Given the description of an element on the screen output the (x, y) to click on. 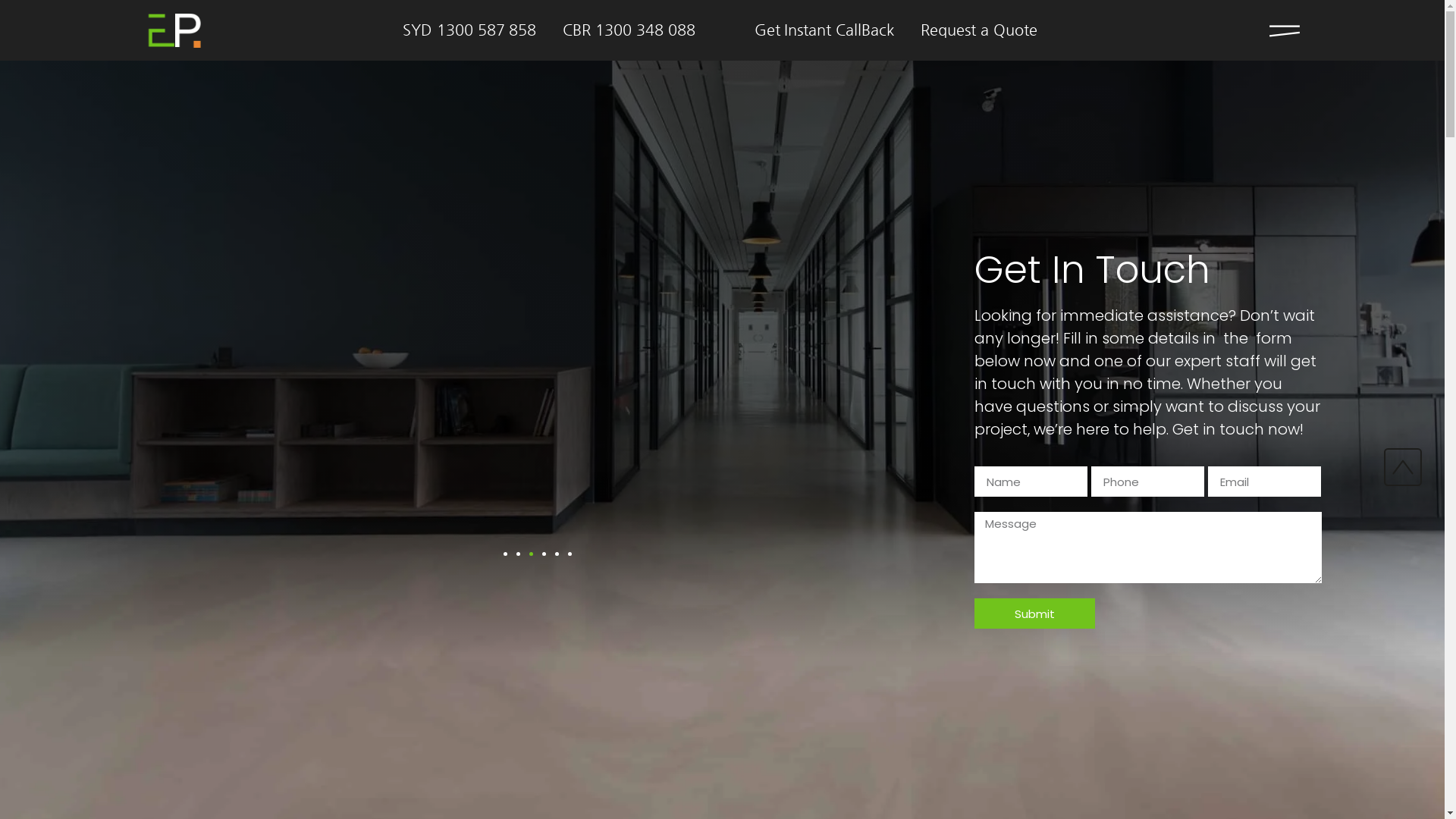
Get Instant CallBack Element type: text (824, 29)
SYD 1300 587 858 Element type: text (469, 29)
Submit Element type: text (1034, 613)
Request a Quote Element type: text (978, 29)
CBR 1300 348 088 Element type: text (628, 29)
